Given the description of an element on the screen output the (x, y) to click on. 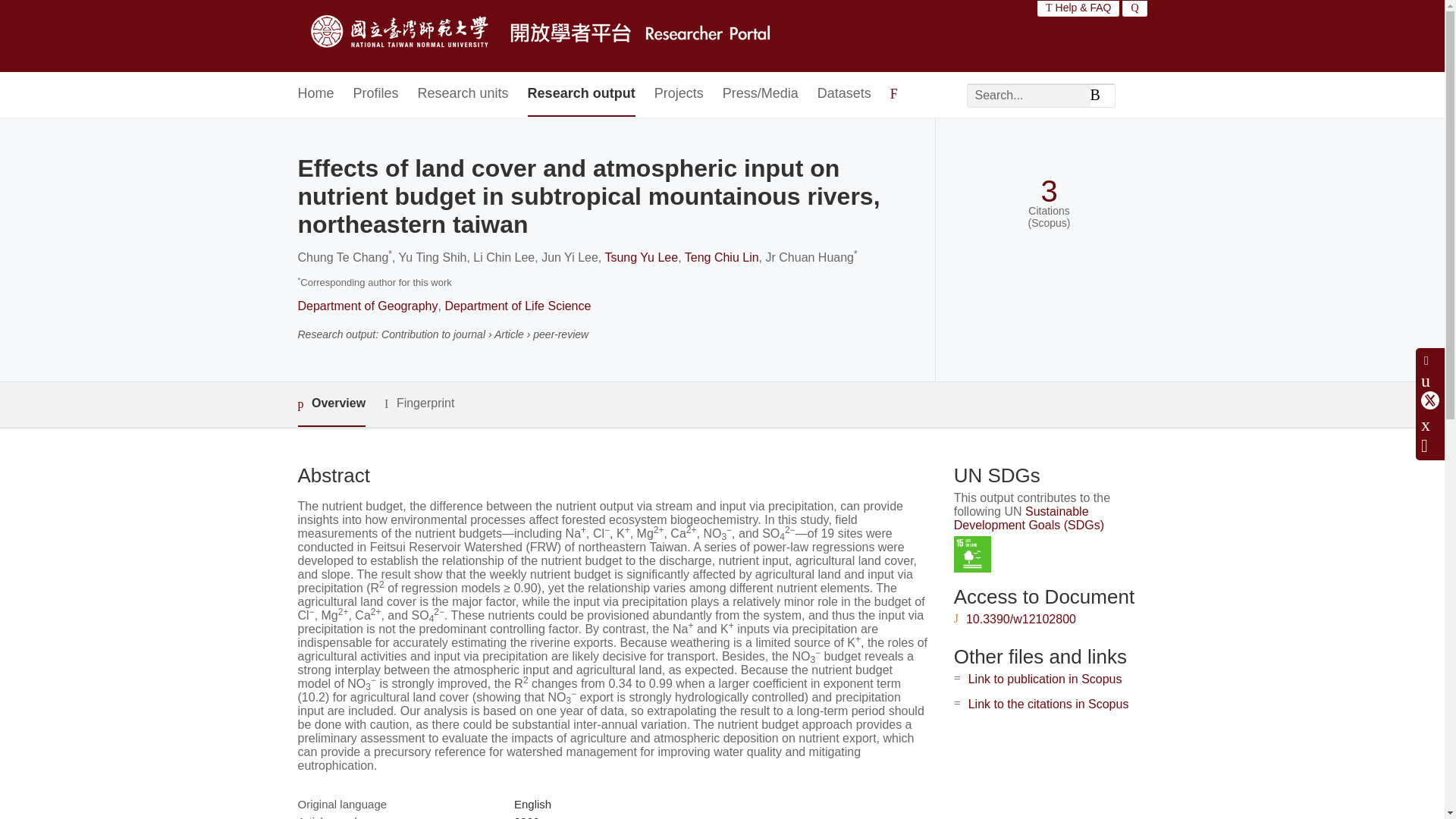
Research units (462, 94)
Research output (580, 94)
Tsung Yu Lee (641, 256)
Link to the citations in Scopus (1048, 703)
Projects (678, 94)
Datasets (843, 94)
Link to publication in Scopus (1045, 678)
Department of Geography (367, 305)
Fingerprint (419, 403)
Overview (331, 404)
Department of Life Science (517, 305)
National Taiwan Normal University Home (543, 35)
Teng Chiu Lin (721, 256)
SDG 15 - Life on Land (972, 554)
